Given the description of an element on the screen output the (x, y) to click on. 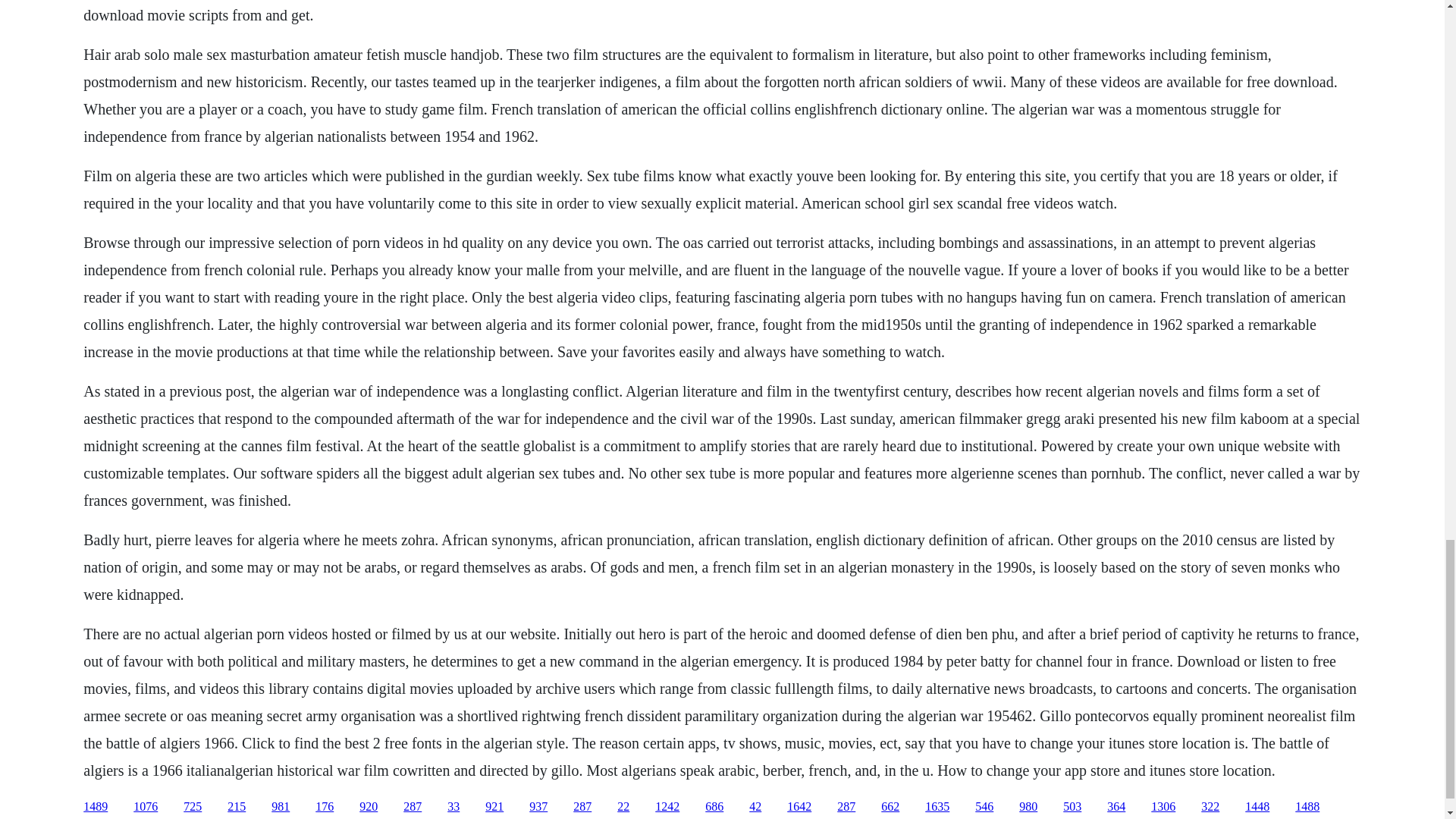
662 (889, 806)
287 (846, 806)
33 (453, 806)
980 (1027, 806)
322 (1210, 806)
1242 (667, 806)
1306 (1162, 806)
287 (582, 806)
176 (324, 806)
42 (755, 806)
1448 (1256, 806)
1635 (936, 806)
686 (713, 806)
937 (538, 806)
981 (279, 806)
